Given the description of an element on the screen output the (x, y) to click on. 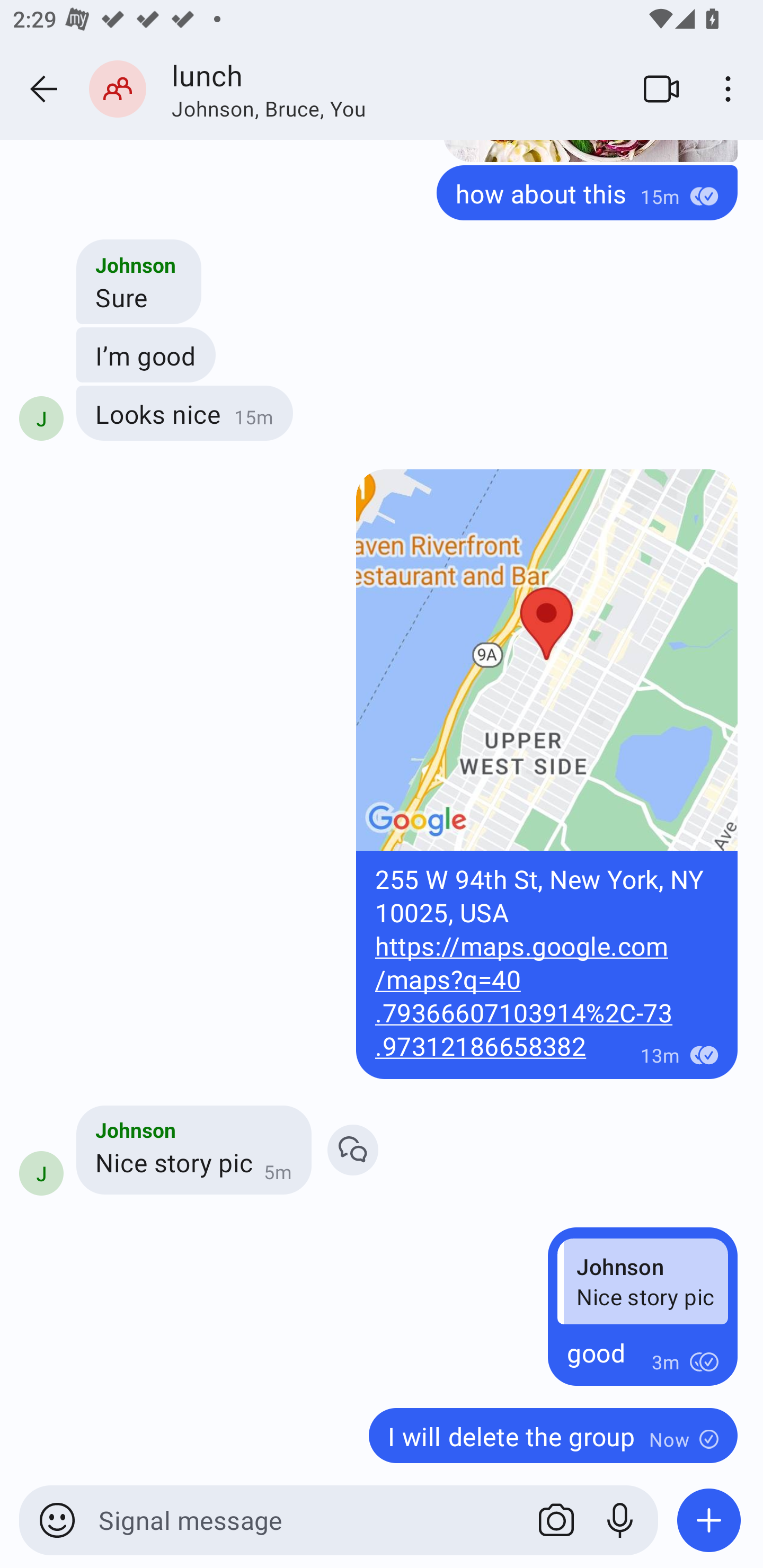
More options (731, 88)
